Given the description of an element on the screen output the (x, y) to click on. 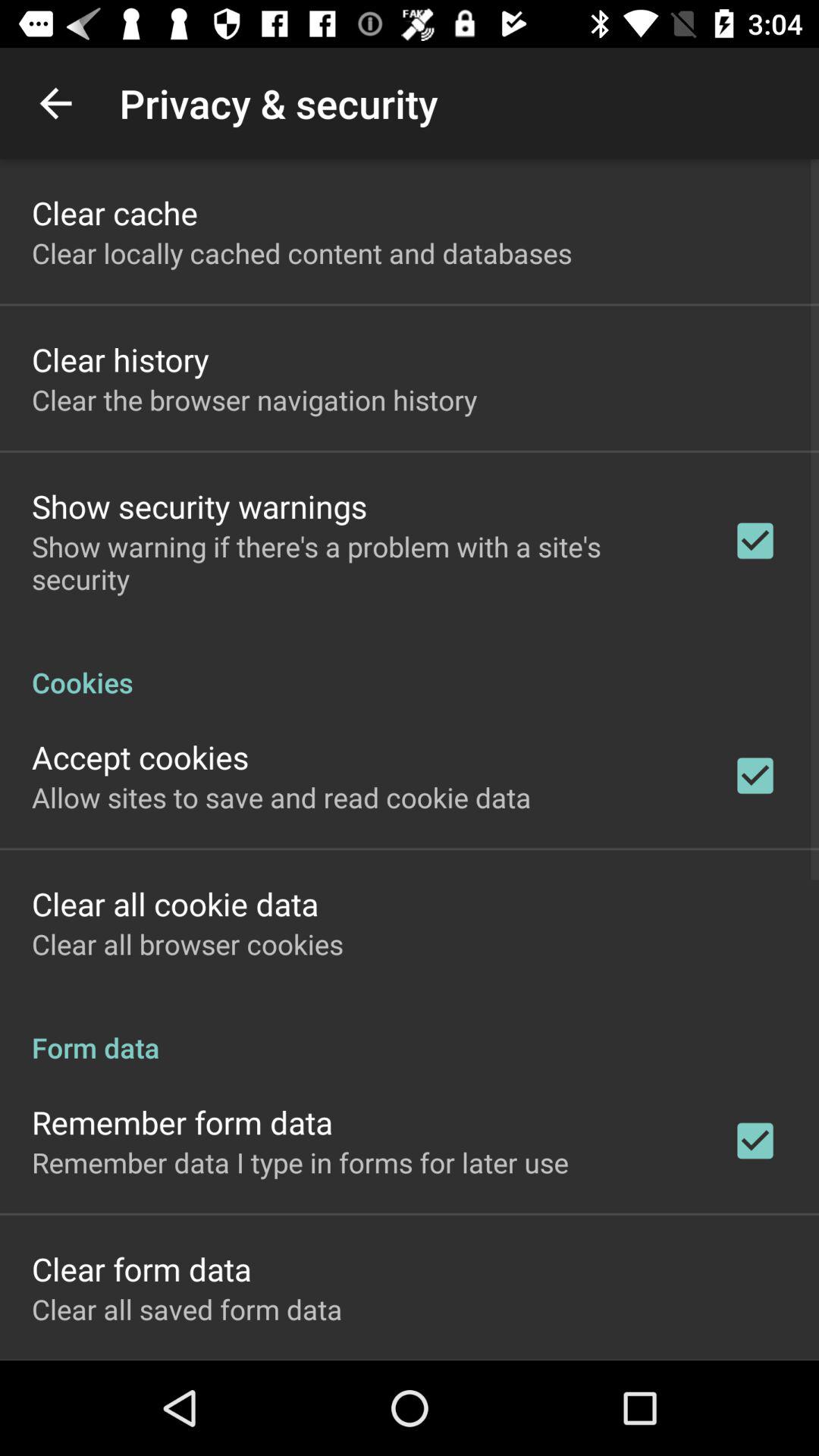
launch the app below clear cache app (301, 252)
